Given the description of an element on the screen output the (x, y) to click on. 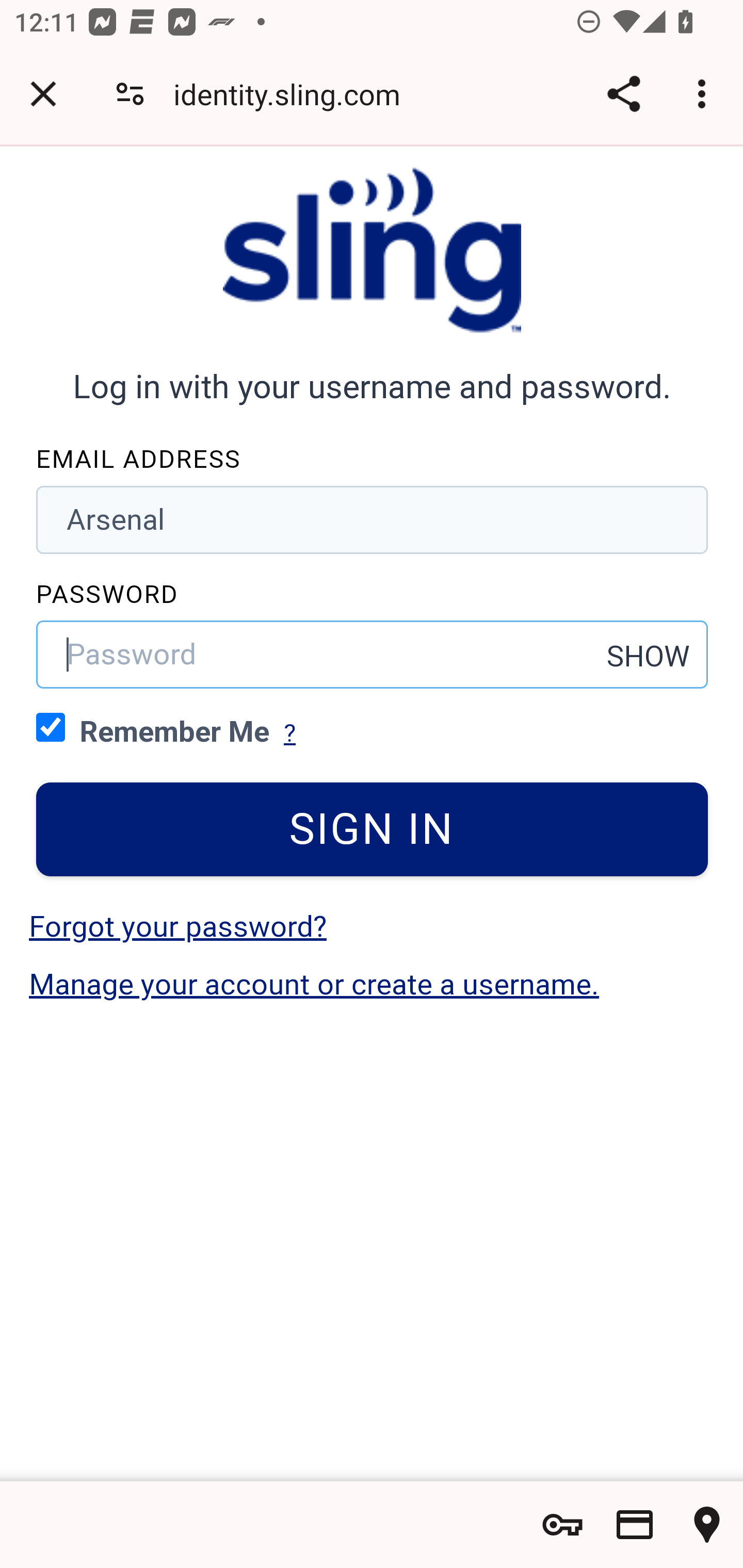
Close tab (43, 93)
Share (623, 93)
Customize and control Google Chrome (705, 93)
Connection is secure (129, 93)
identity.sling.com (294, 93)
Arsenal (372, 518)
SHOW (649, 655)
Remember Me (50, 726)
? (289, 732)
SIGN IN (372, 829)
Forgot your password? (177, 926)
Manage your account or create a username. (313, 984)
Show saved passwords and password options (562, 1524)
Show saved payment methods (634, 1524)
Show saved addresses (706, 1524)
